Given the description of an element on the screen output the (x, y) to click on. 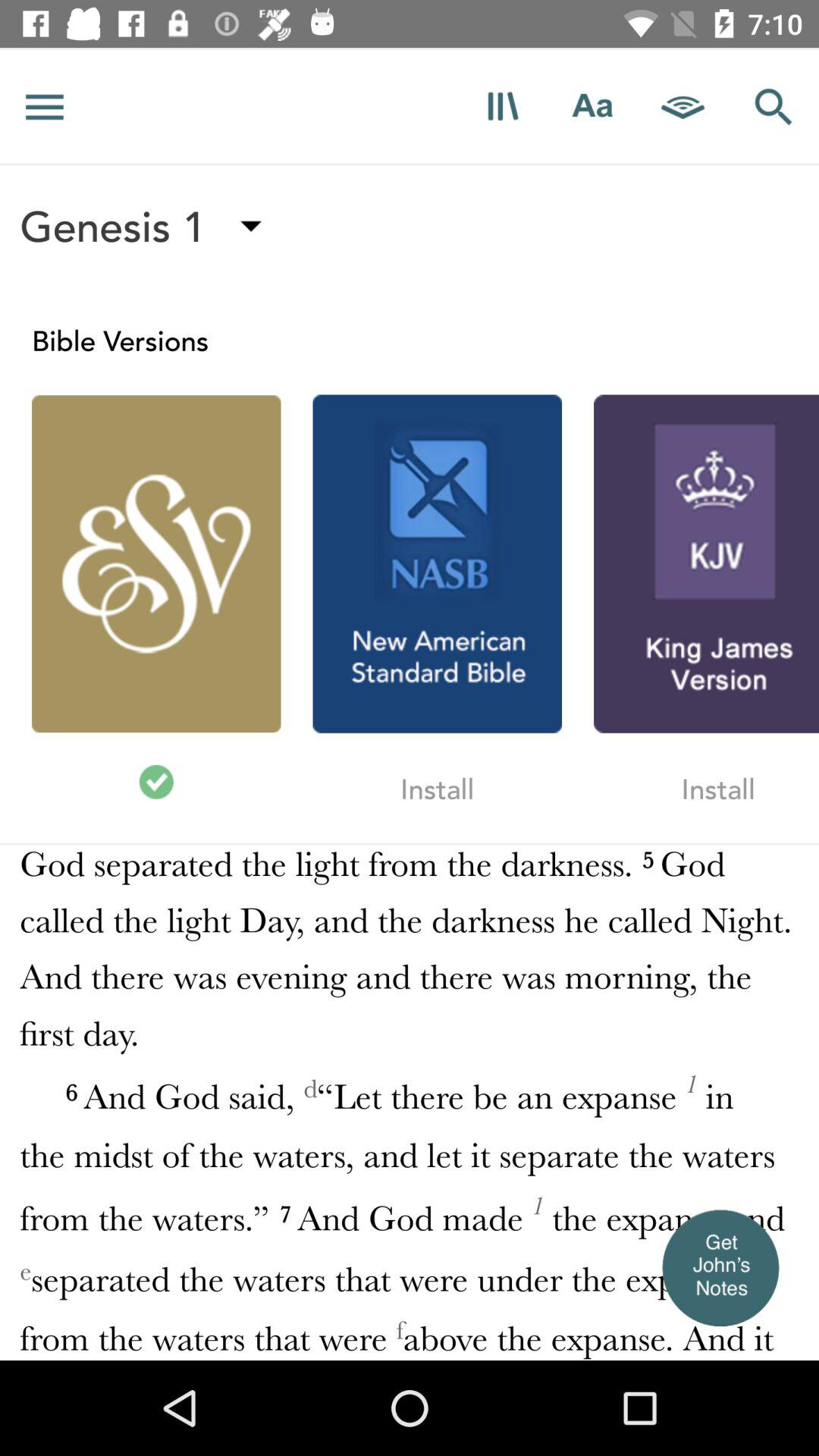
shows search option (773, 106)
